Given the description of an element on the screen output the (x, y) to click on. 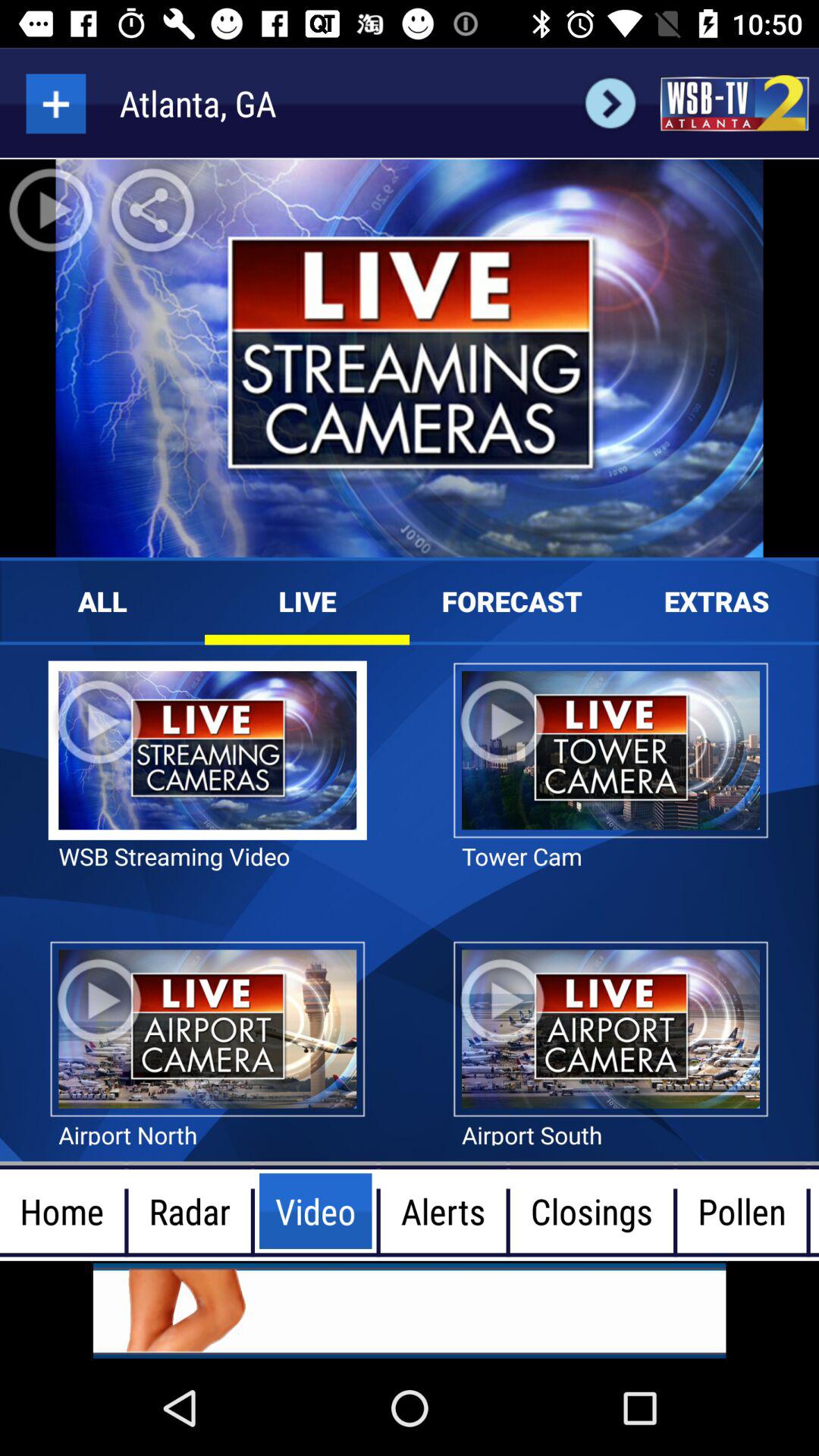
go to next (610, 103)
